Given the description of an element on the screen output the (x, y) to click on. 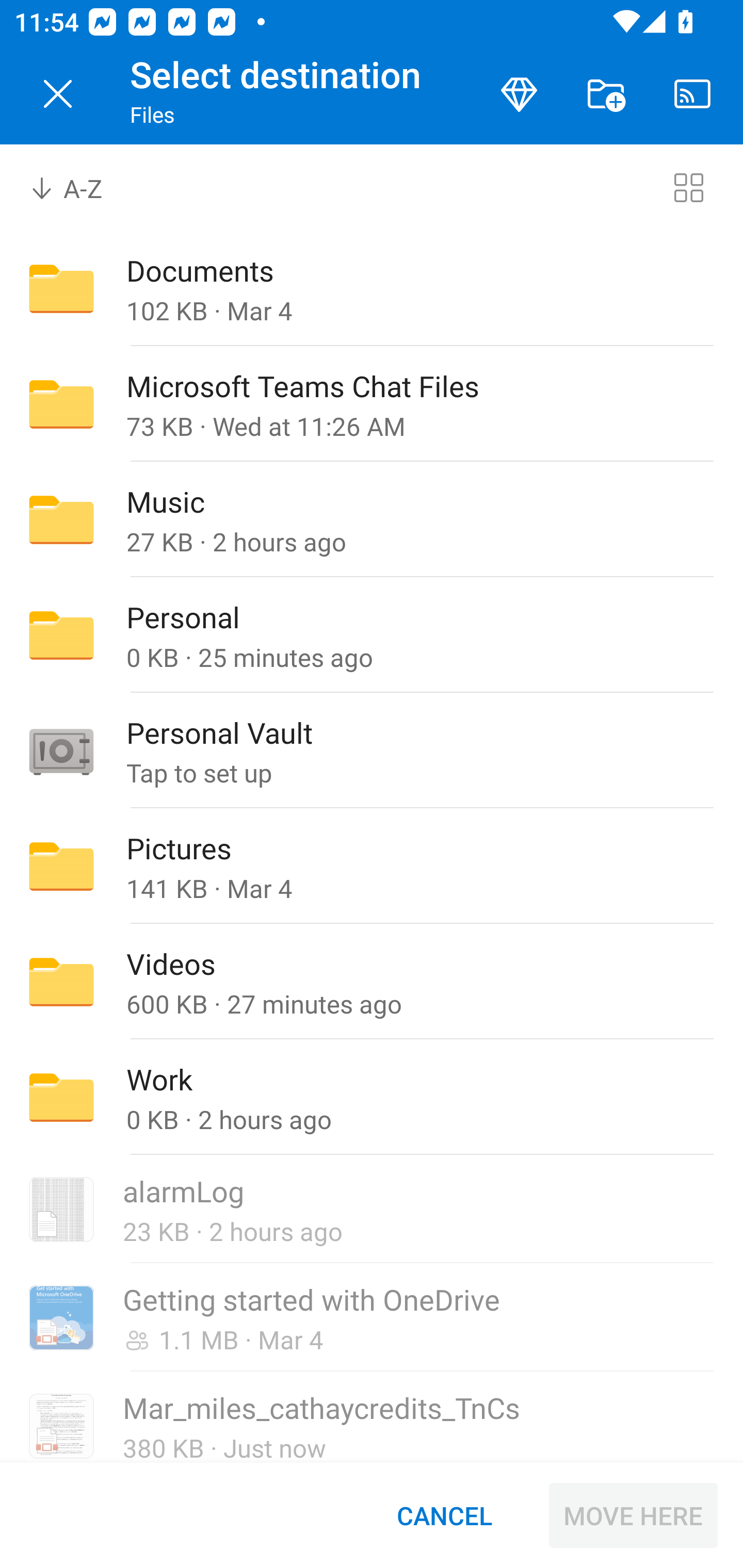
Close (57, 93)
Cast. Disconnected (692, 93)
Premium button (518, 93)
More actions button (605, 93)
A-Z Sort by combo box, sort by name, A to Z (80, 187)
Switch to tiles view (688, 187)
Folder Documents 102 KB · Mar 4 (371, 288)
Folder Music 27 KB · 2 hours ago (371, 519)
Folder Personal 0 KB · 25 minutes ago (371, 635)
Folder Personal Vault Tap to set up (371, 751)
Folder Pictures 141 KB · Mar 4 (371, 866)
Folder Videos 600 KB · 27 minutes ago (371, 981)
Folder Work 0 KB · 2 hours ago (371, 1097)
Document alarmLog 23 KB · 2 hours ago (371, 1209)
CANCEL (443, 1515)
MOVE HERE (633, 1515)
